Given the description of an element on the screen output the (x, y) to click on. 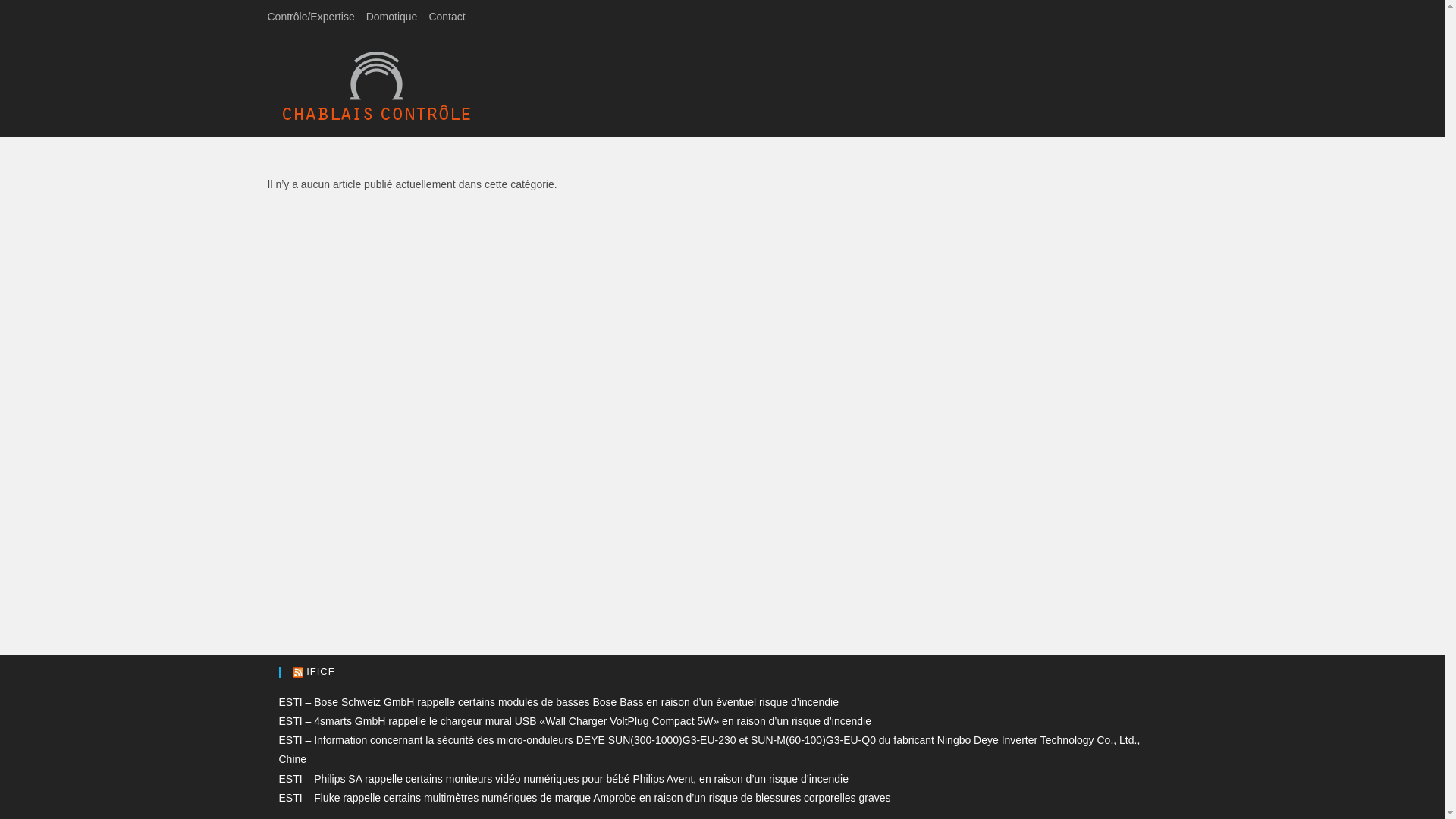
Domotique Element type: text (391, 16)
IFICF Element type: text (320, 671)
Contact Element type: text (446, 16)
